Given the description of an element on the screen output the (x, y) to click on. 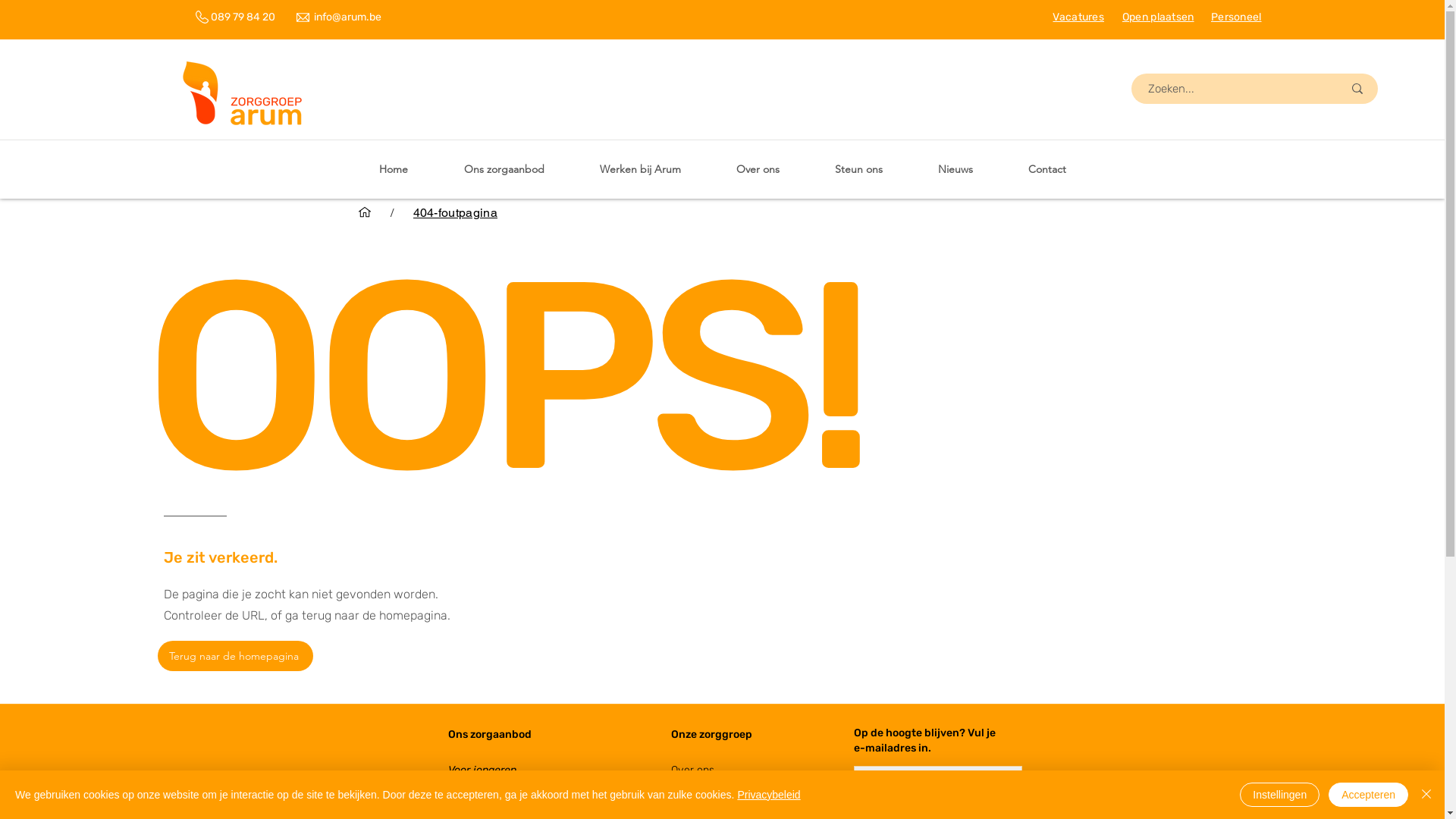
Logo arum-def_edited.png Element type: hover (242, 95)
Terug naar de homepagina Element type: text (235, 655)
Voor jongeren Element type: text (481, 769)
Contact Element type: text (1047, 169)
089 79 84 20 Element type: text (242, 16)
Steun ons Element type: text (858, 169)
Ons zorgaanbod Element type: text (503, 169)
Historiek Element type: text (691, 805)
info@arum.be Element type: text (347, 16)
Ons zorgaanbod Element type: text (488, 734)
Vacatures Element type: text (1078, 16)
Verblijf Element type: text (463, 787)
Personeel Element type: text (1236, 16)
Home Element type: text (392, 169)
Over ons Element type: text (691, 769)
Onze zorggroep Element type: text (710, 734)
Schoolvervangende dagopvang Element type: text (524, 805)
Open plaatsen Element type: text (1158, 16)
Vestigingen Element type: text (698, 787)
Nieuws Element type: text (955, 169)
